Given the description of an element on the screen output the (x, y) to click on. 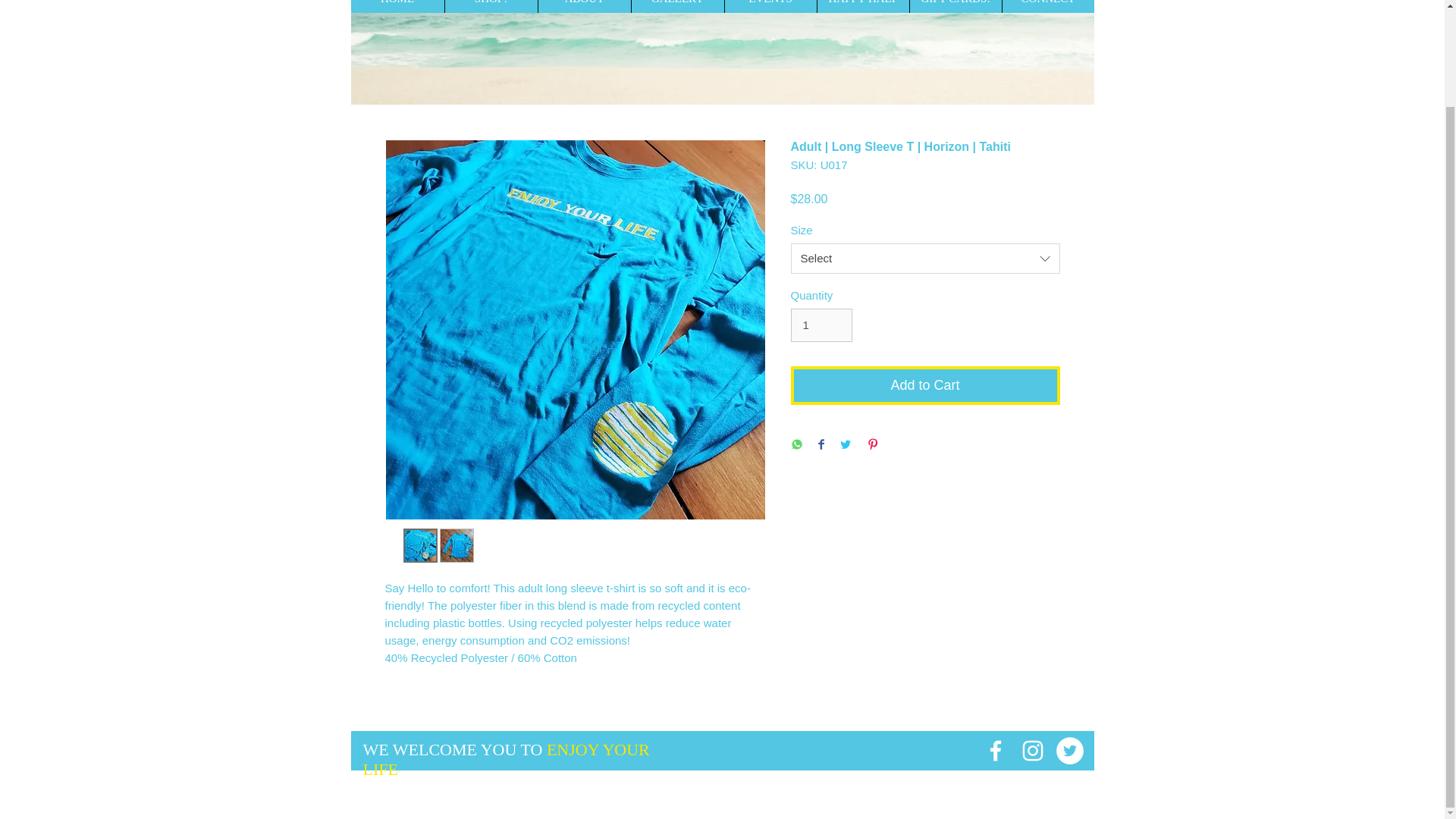
EVENTS (769, 6)
SHOP! (490, 6)
CONNECT (1047, 6)
ABOUT (583, 6)
Select (924, 258)
1 (820, 325)
HAPPY HALF (861, 6)
Add to Cart (924, 385)
GIFT CARDS! (954, 6)
HOME (397, 6)
